Given the description of an element on the screen output the (x, y) to click on. 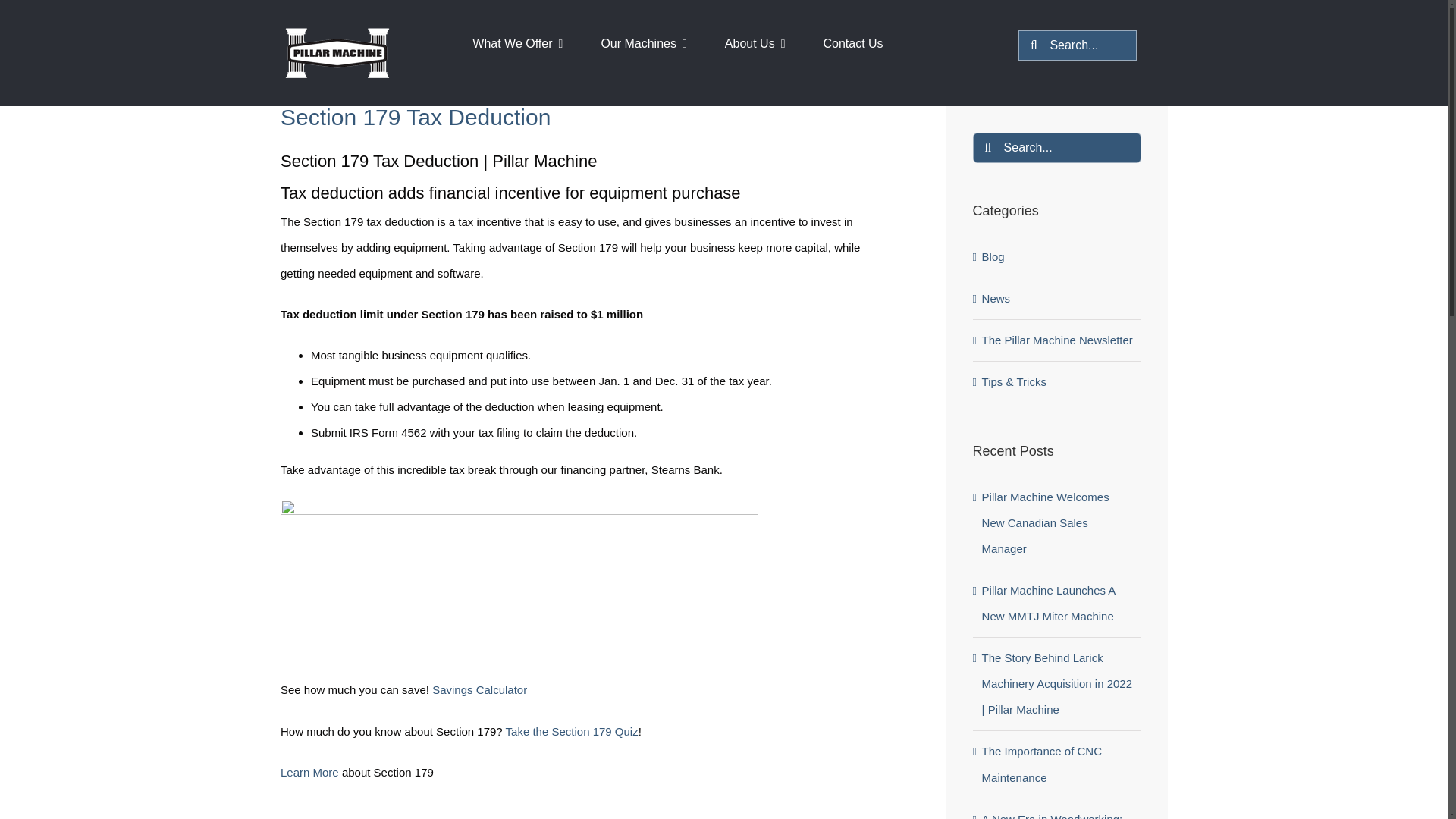
Our Machines (654, 28)
What We Offer (528, 28)
Our Machines (654, 28)
Contact Us (863, 28)
What We Offer (528, 28)
